Given the description of an element on the screen output the (x, y) to click on. 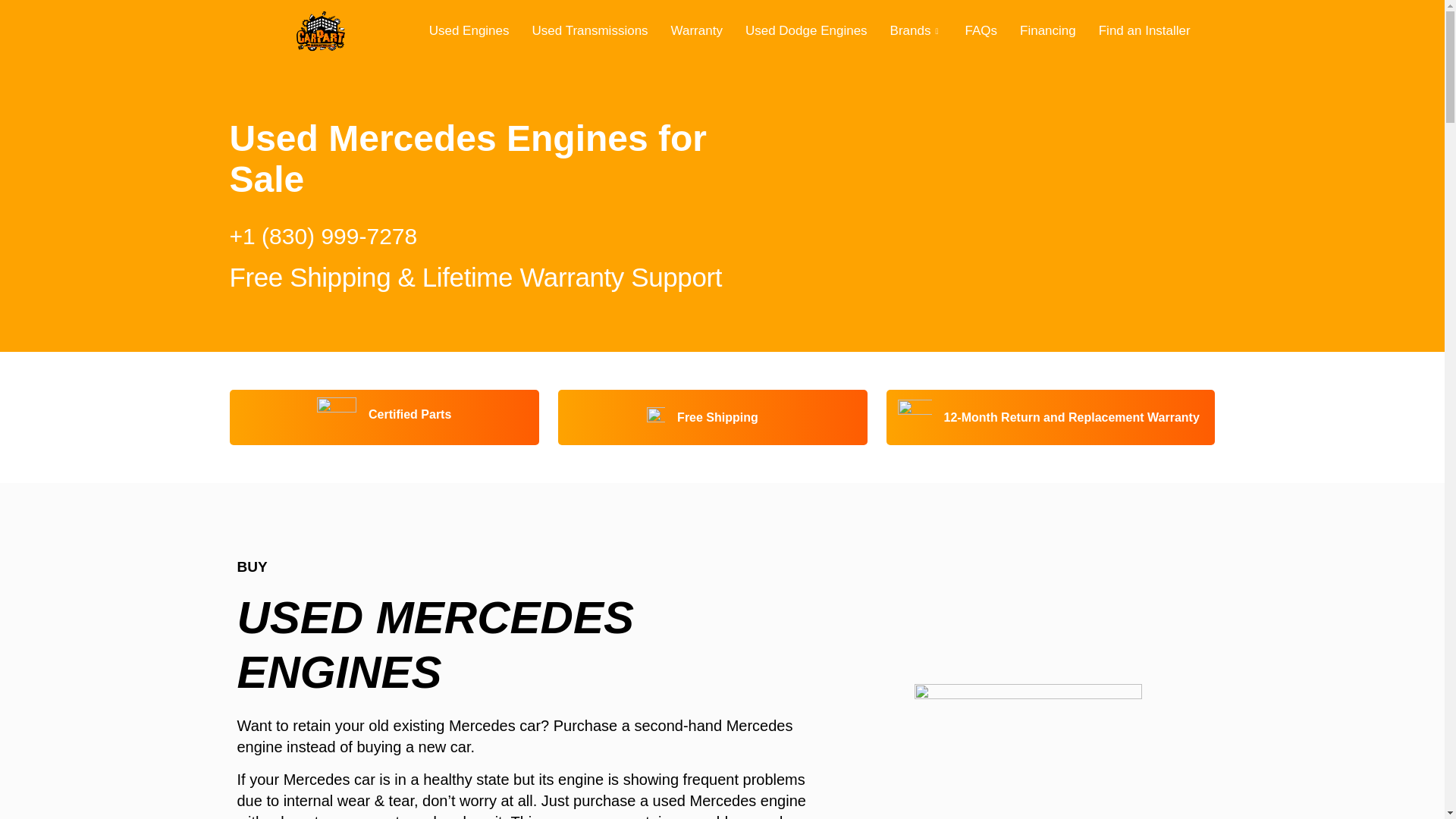
Find an Installer (1144, 30)
Used Dodge Engines (806, 30)
Used Engines (469, 30)
Brands (916, 30)
FAQs (981, 30)
Financing (1048, 30)
Warranty (696, 30)
Used Transmissions (590, 30)
